Given the description of an element on the screen output the (x, y) to click on. 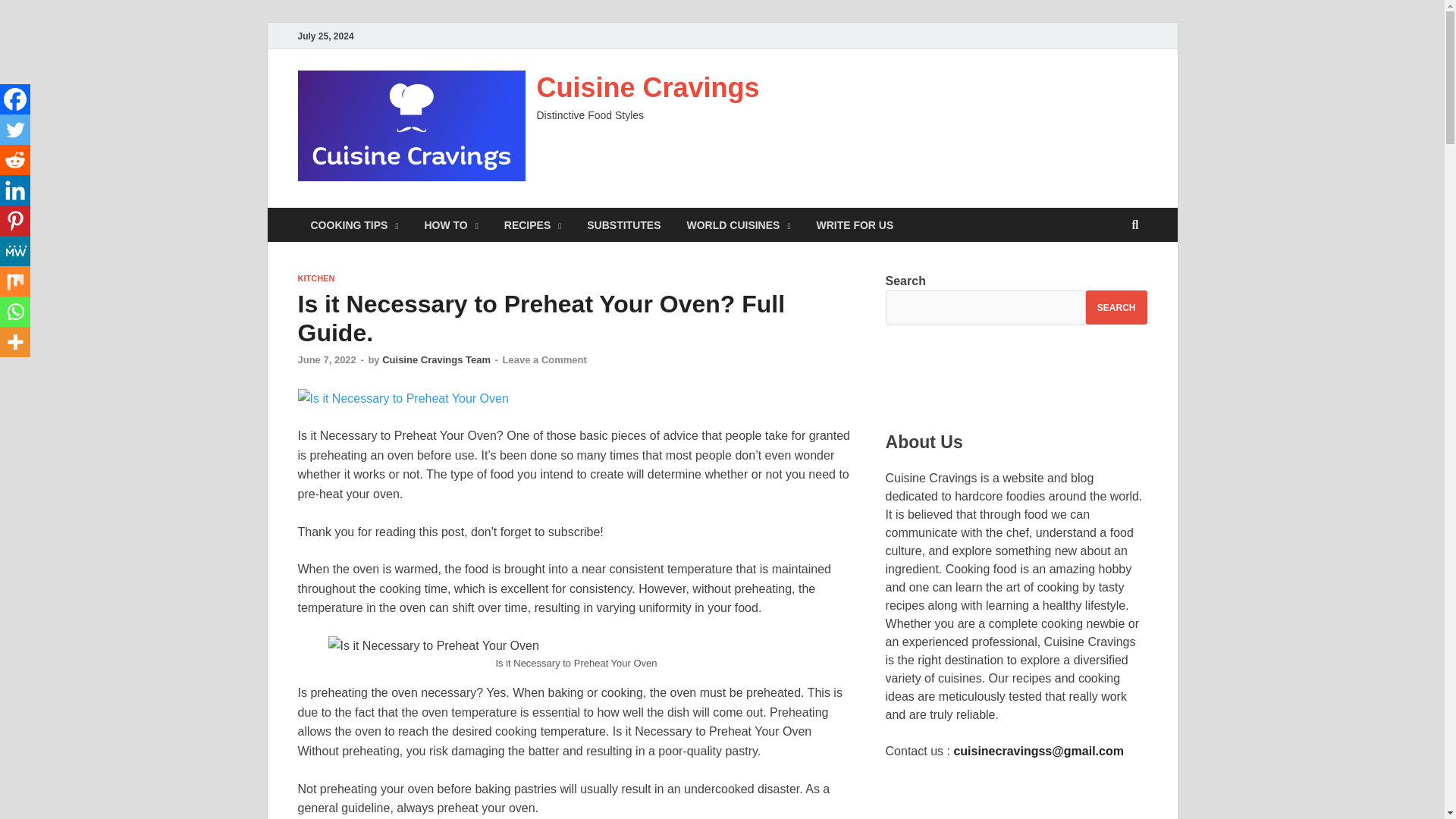
June 7, 2022 (326, 359)
WORLD CUISINES (737, 224)
Twitter (15, 129)
HOW TO (450, 224)
Cuisine Cravings (648, 87)
Reddit (15, 159)
WRITE FOR US (854, 224)
Facebook (15, 99)
Leave a Comment (544, 359)
COOKING TIPS (353, 224)
Cuisine Cravings Team (435, 359)
RECIPES (533, 224)
SUBSTITUTES (622, 224)
KITCHEN (315, 277)
